Given the description of an element on the screen output the (x, y) to click on. 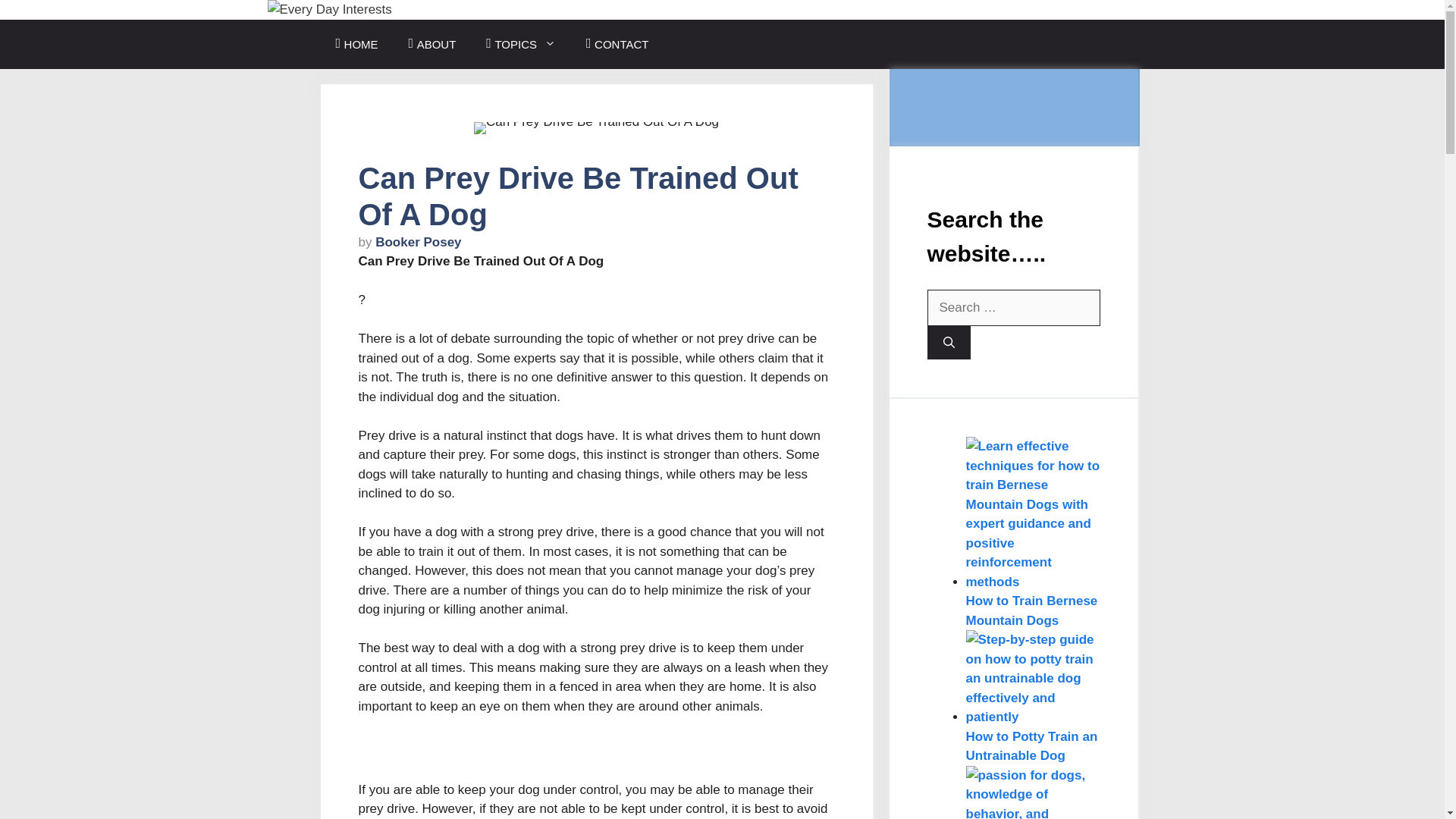
View all posts by Booker Posey (418, 242)
TOPICS (520, 43)
Booker Posey (418, 242)
Can Prey Drive Be Trained Out Of A Dog 1 (596, 127)
HOME (356, 43)
CONTACT (616, 43)
ABOUT (432, 43)
